Given the description of an element on the screen output the (x, y) to click on. 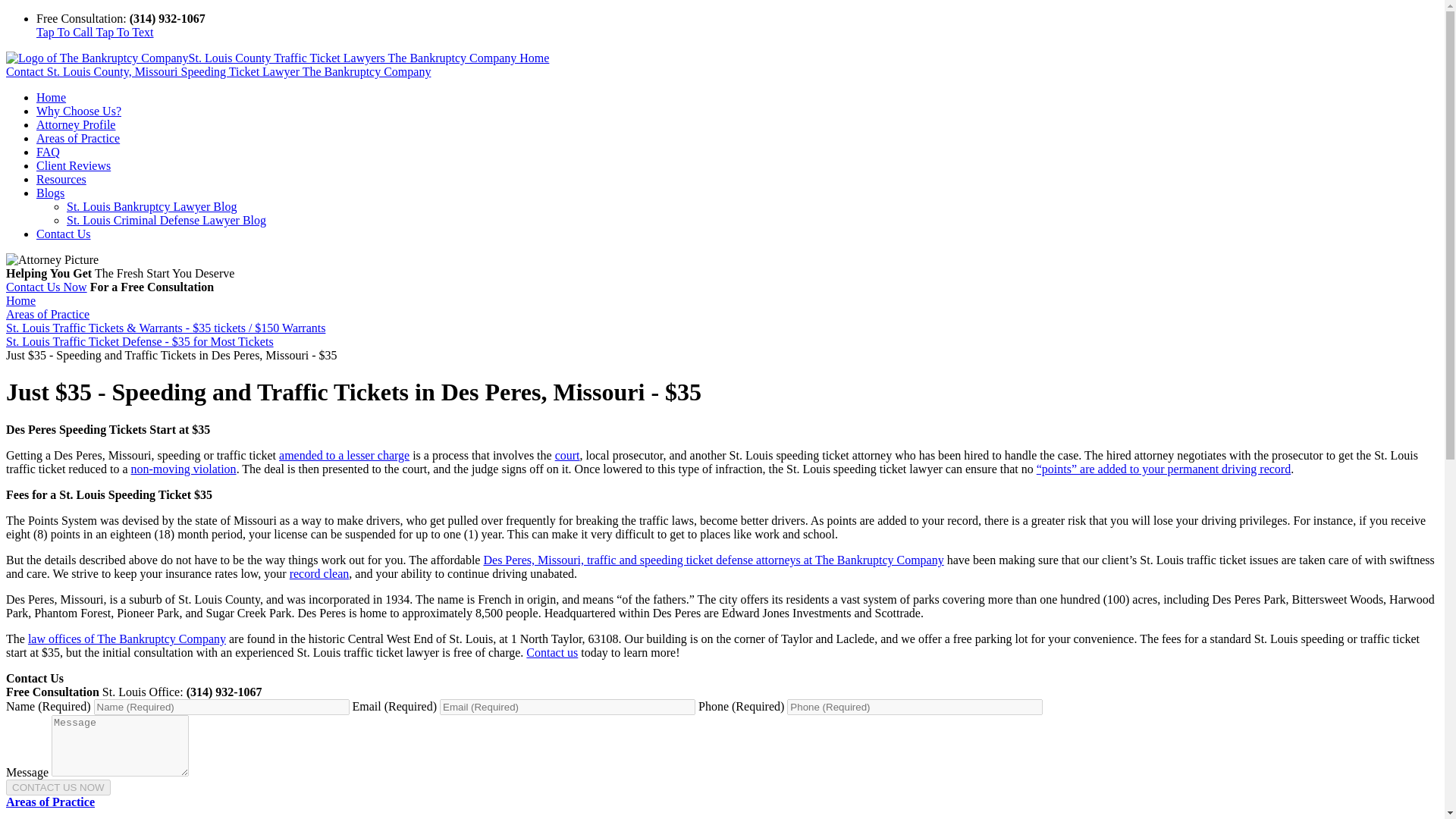
Home (50, 97)
FAQ (47, 151)
Client Reviews (73, 164)
Attorney Profile (75, 124)
Tap To Text (124, 31)
Areas of Practice (49, 801)
amended to a lesser charge (344, 454)
Why Choose Us? (78, 110)
Areas of Practice (46, 314)
Resources (60, 178)
Home (19, 300)
Areas of Practice (77, 137)
law offices of The Bankruptcy Company (126, 638)
Tap To Call (66, 31)
